Given the description of an element on the screen output the (x, y) to click on. 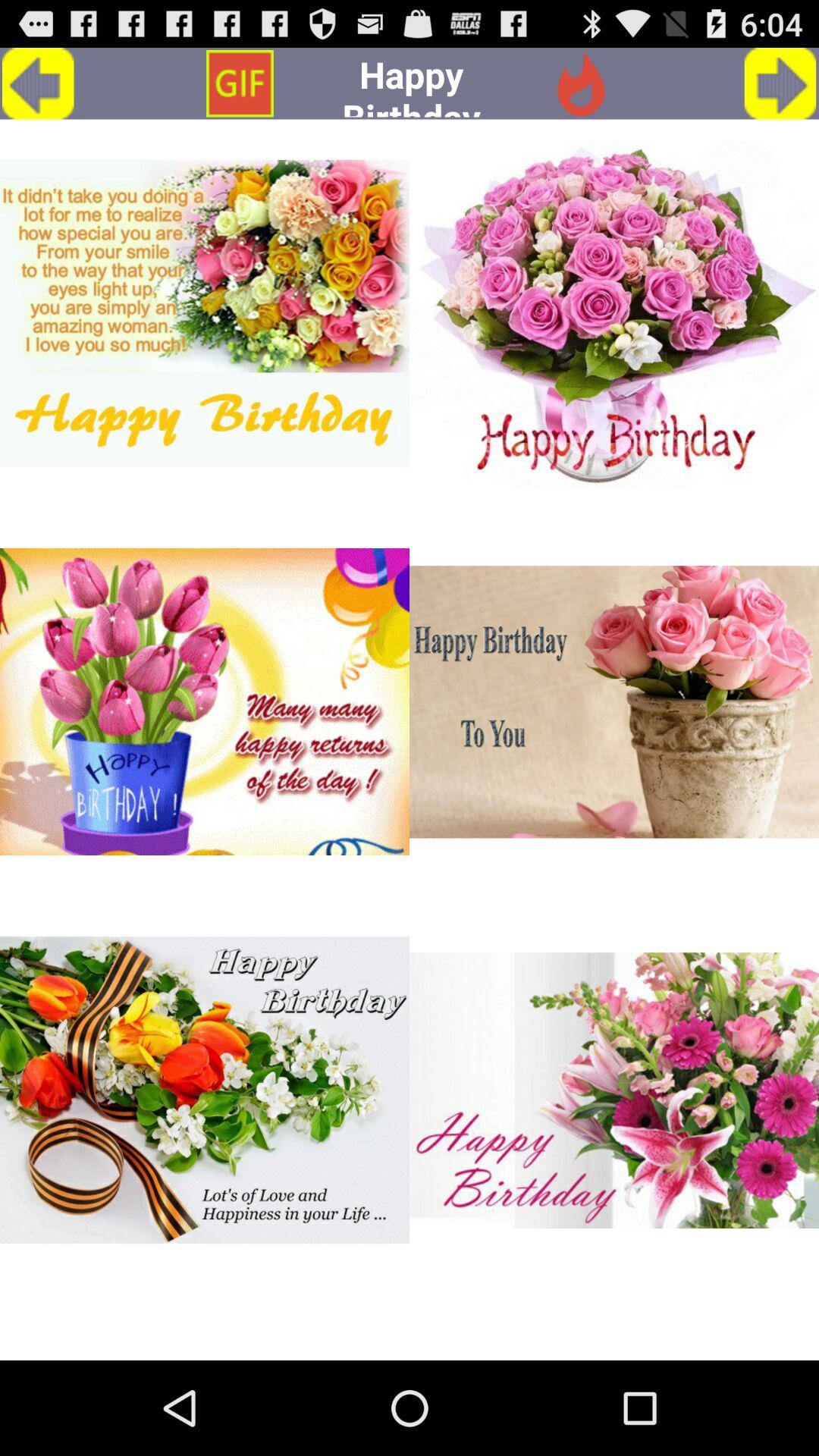
select many many happy returns of the day (204, 701)
